Given the description of an element on the screen output the (x, y) to click on. 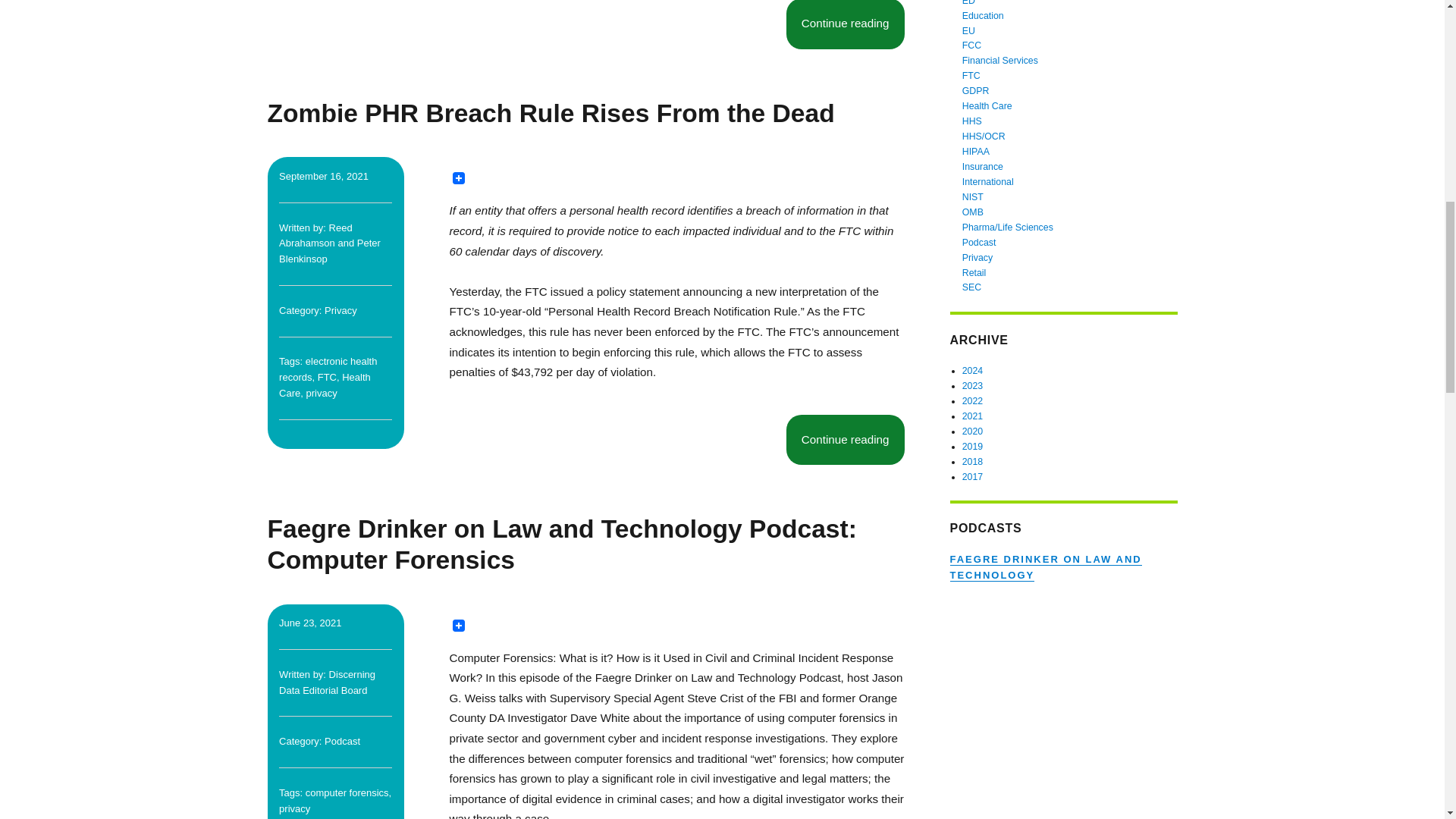
Health Care (325, 384)
Reed Abrahamson (315, 234)
electronic health records (328, 369)
Posts by Peter Blenkinsop (329, 250)
Zombie PHR Breach Rule Rises From the Dead (550, 113)
FTC (326, 377)
Privacy (340, 310)
privacy (321, 392)
Posts by Reed Abrahamson (315, 234)
